Given the description of an element on the screen output the (x, y) to click on. 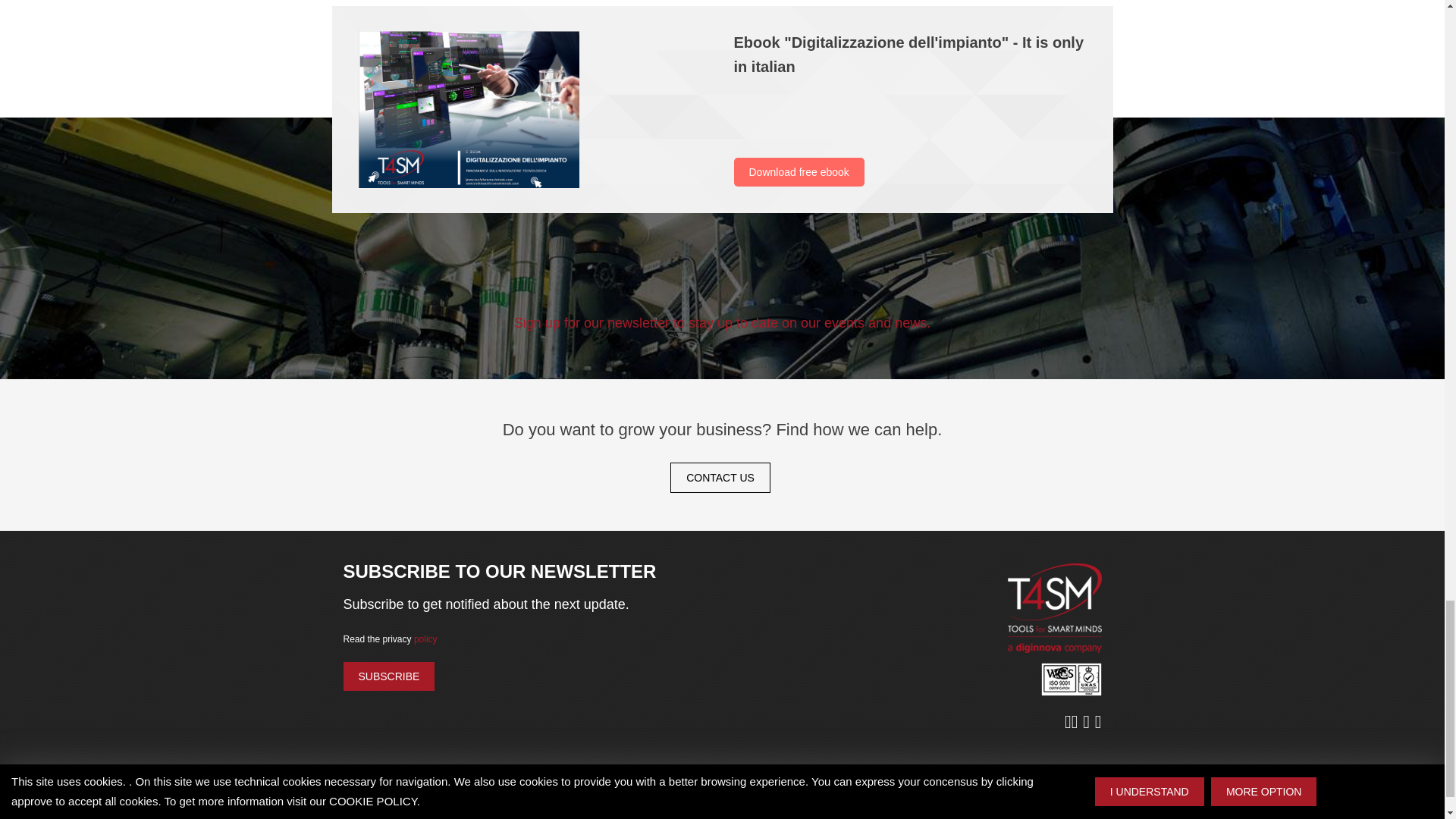
Contact (719, 477)
Subscribe (387, 676)
Free ebook of Industry 4.0 - only in italian (468, 109)
Free ebook of Industry 4.0 - only in italian (534, 109)
National Instruments Alliance Partners (1138, 816)
National Instruments Alliance Partners (981, 810)
